Given the description of an element on the screen output the (x, y) to click on. 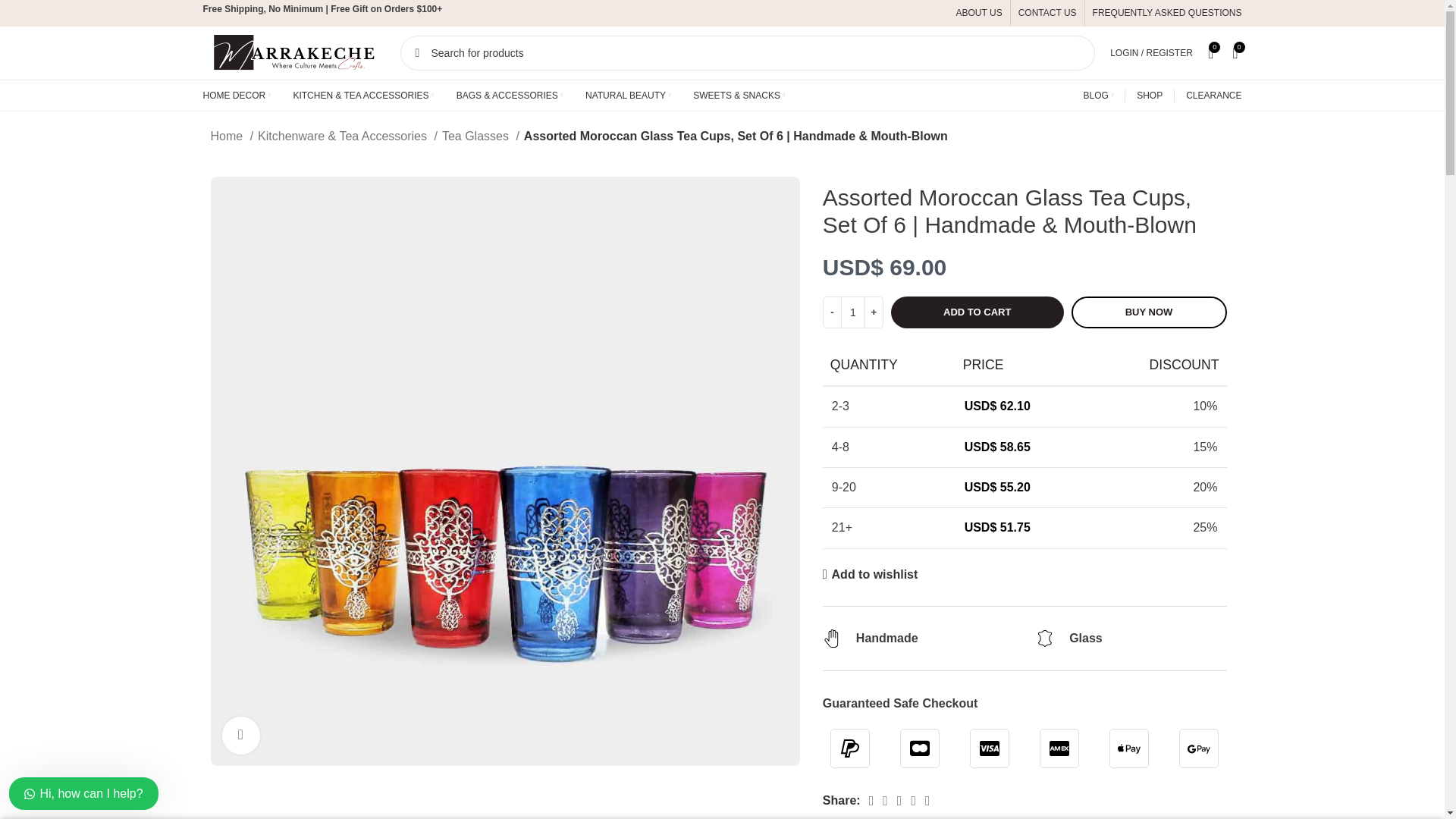
My account (1150, 52)
ABOUT US (979, 13)
CONTACT US (1047, 13)
FREQUENTLY ASKED QUESTIONS (1167, 13)
SEARCH (417, 53)
icons8-leather (1044, 638)
icons8-hand (831, 638)
HOME DECOR (236, 95)
Search for products (748, 53)
